Given the description of an element on the screen output the (x, y) to click on. 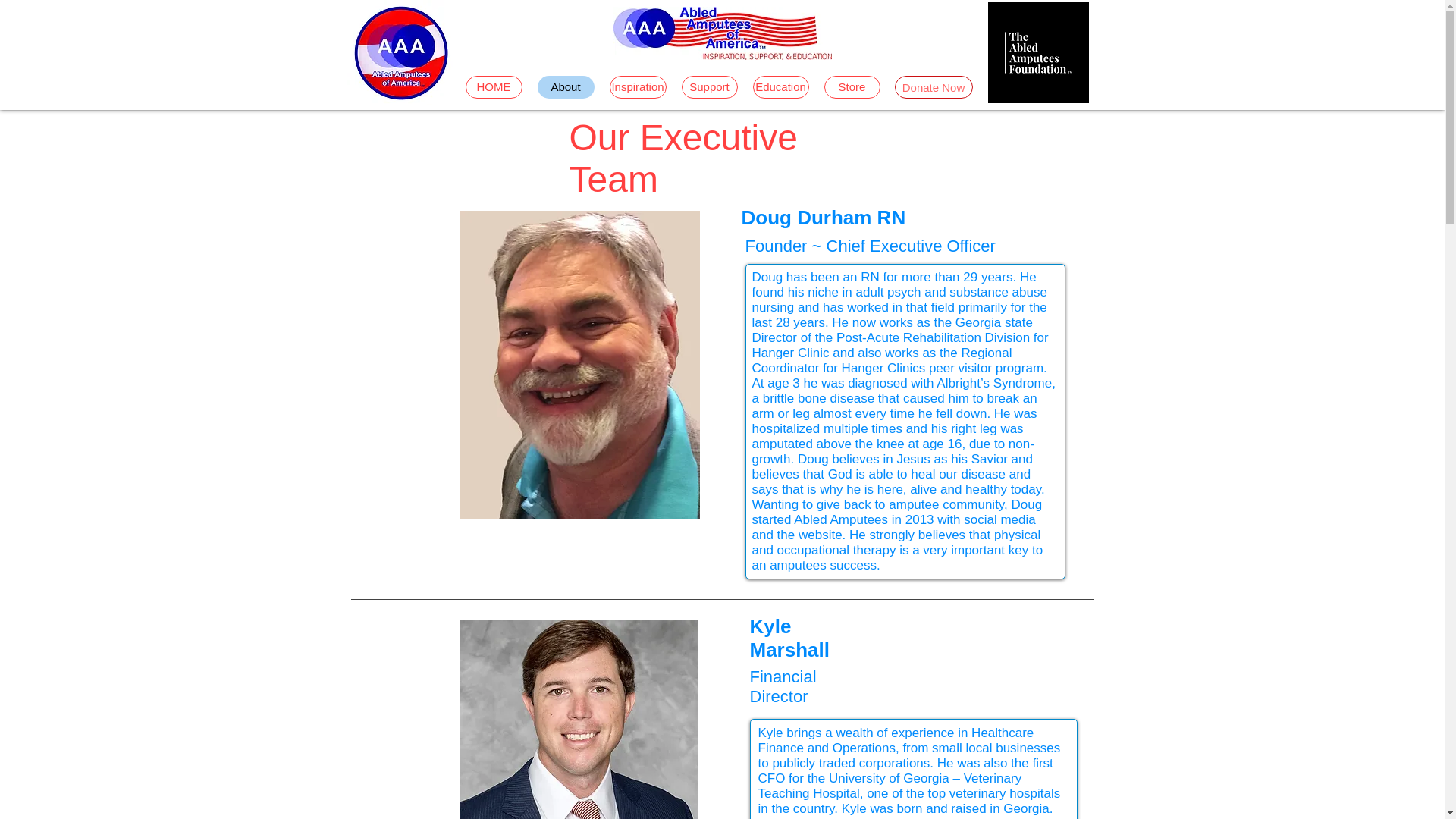
Store (851, 87)
Inspiration (638, 87)
About (565, 87)
Education (780, 87)
AAA master logo 101313a.jpg (721, 32)
Support (708, 87)
HOME (493, 87)
